Given the description of an element on the screen output the (x, y) to click on. 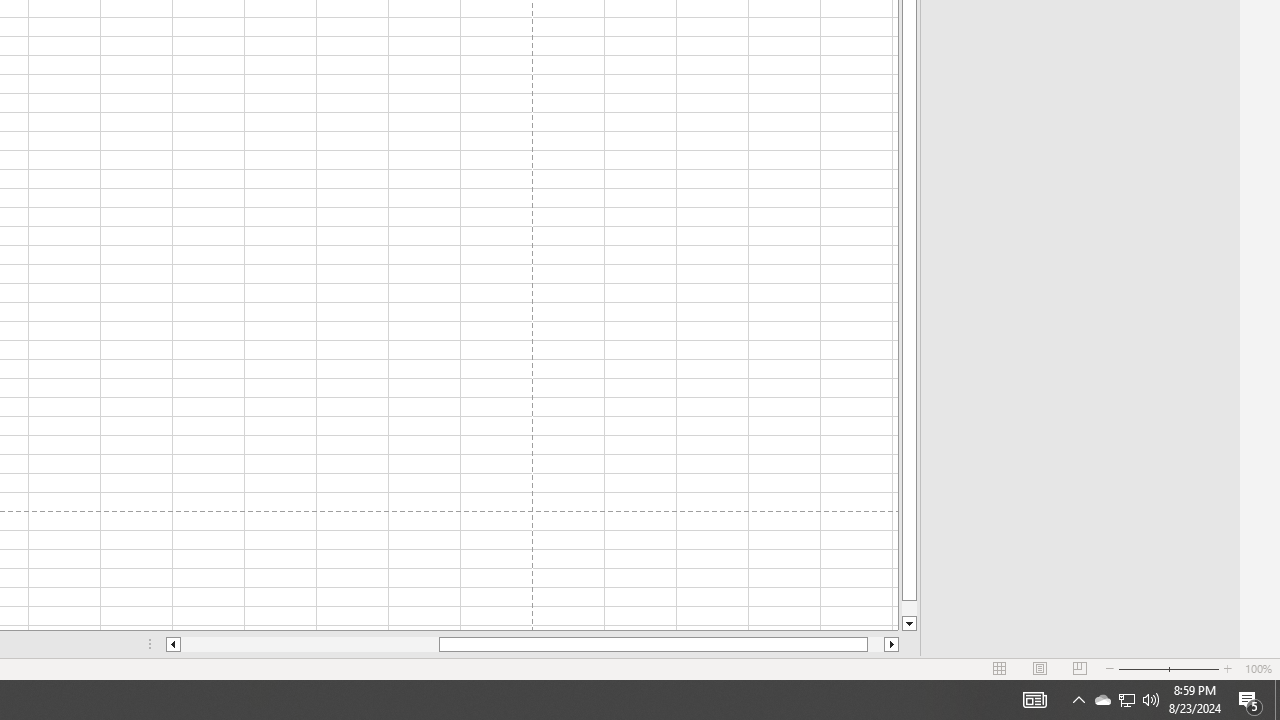
User Promoted Notification Area (1126, 699)
Class: NetUIScrollBar (532, 644)
Page down (909, 608)
Zoom In (1227, 668)
Line down (909, 624)
Page left (309, 644)
